Given the description of an element on the screen output the (x, y) to click on. 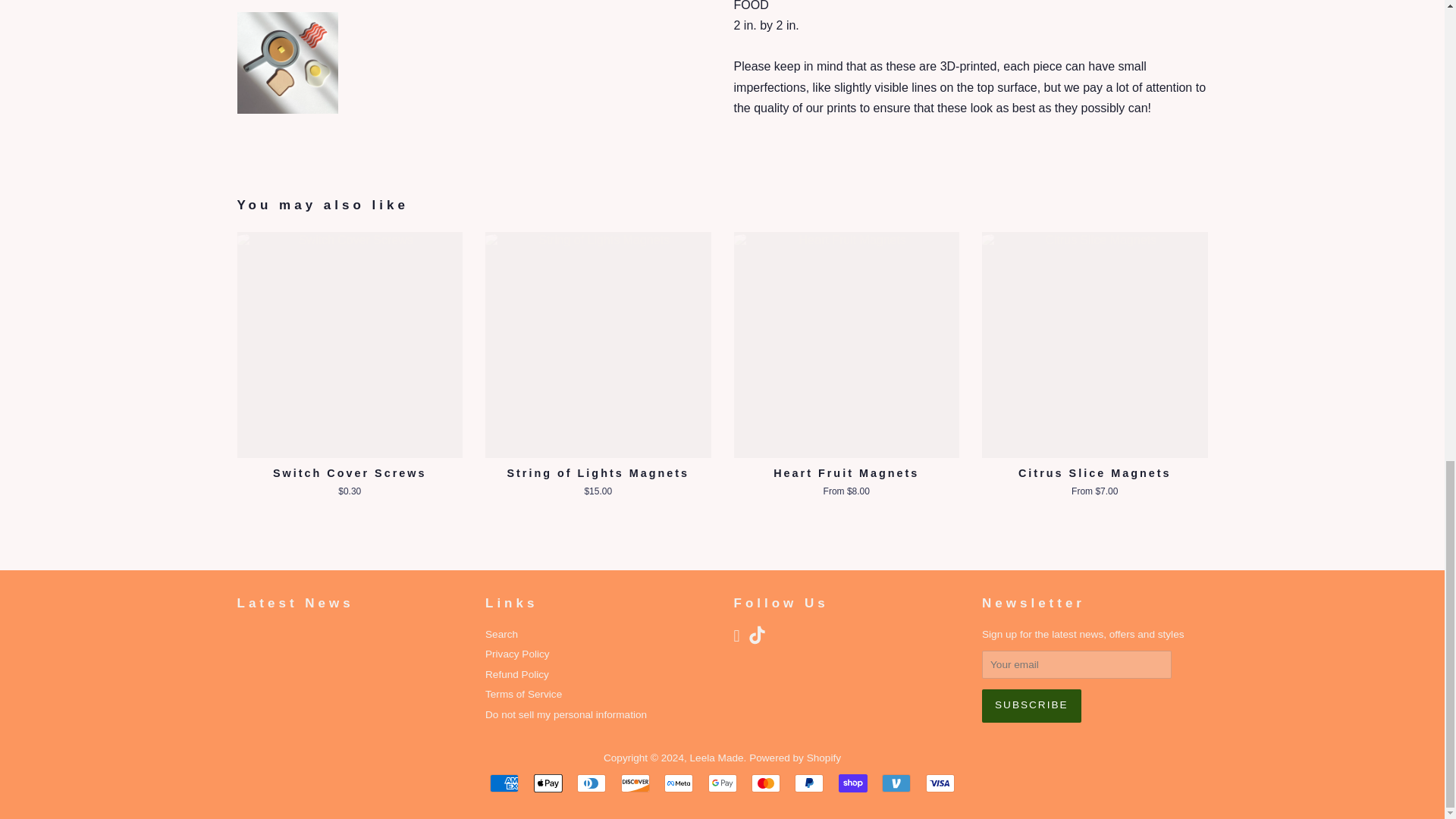
American Express (503, 782)
Venmo (896, 782)
Diners Club (590, 782)
Meta Pay (678, 782)
PayPal (809, 782)
Apple Pay (548, 782)
Google Pay (721, 782)
Visa (940, 782)
Mastercard (765, 782)
Subscribe (1031, 705)
